Given the description of an element on the screen output the (x, y) to click on. 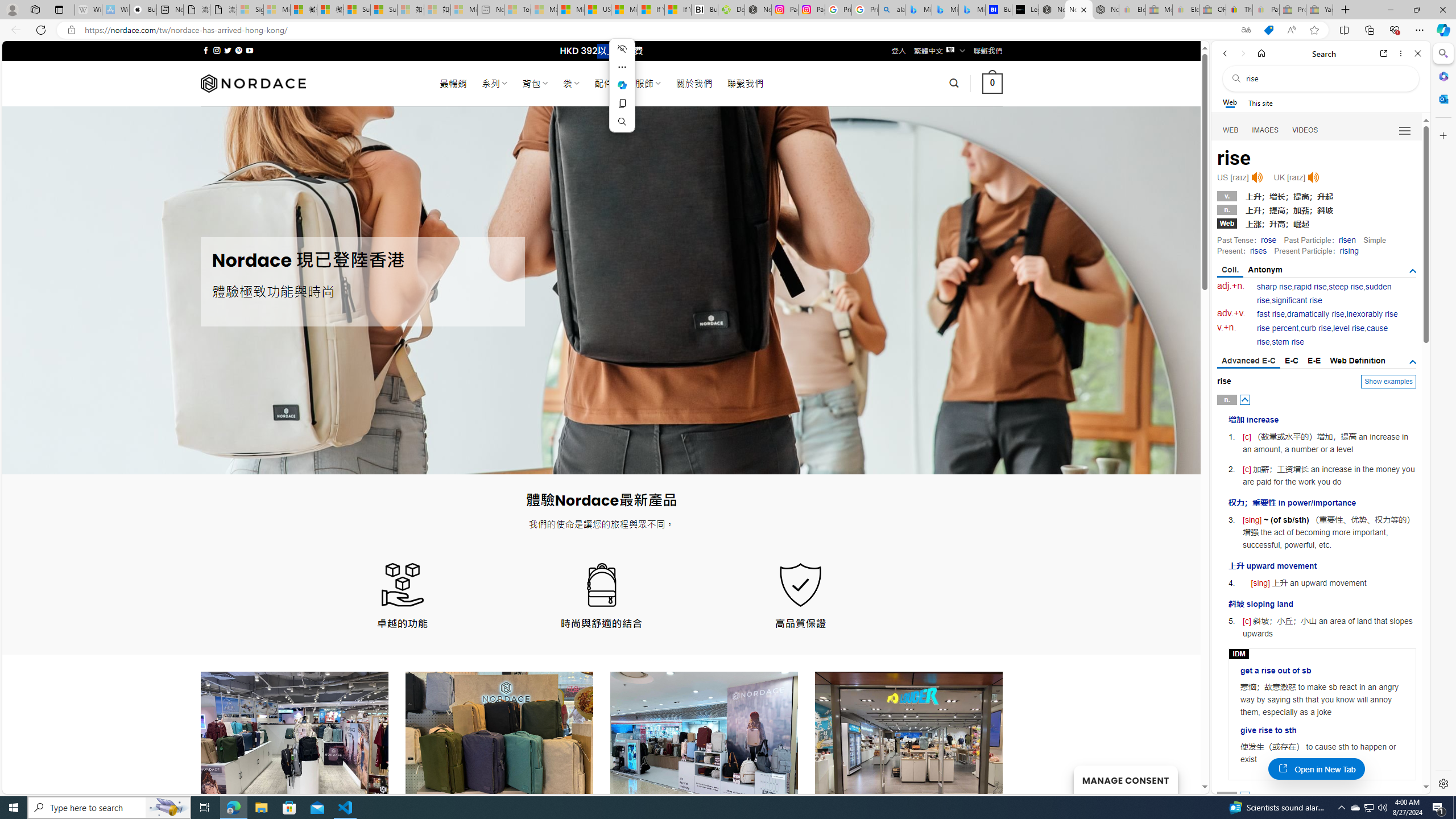
 0  (992, 83)
Yard, Garden & Outdoor Living - Sleeping (1319, 9)
Advanced E-C (1248, 361)
rises (1257, 250)
Hide menu (622, 49)
rapid rise (1310, 286)
